Given the description of an element on the screen output the (x, y) to click on. 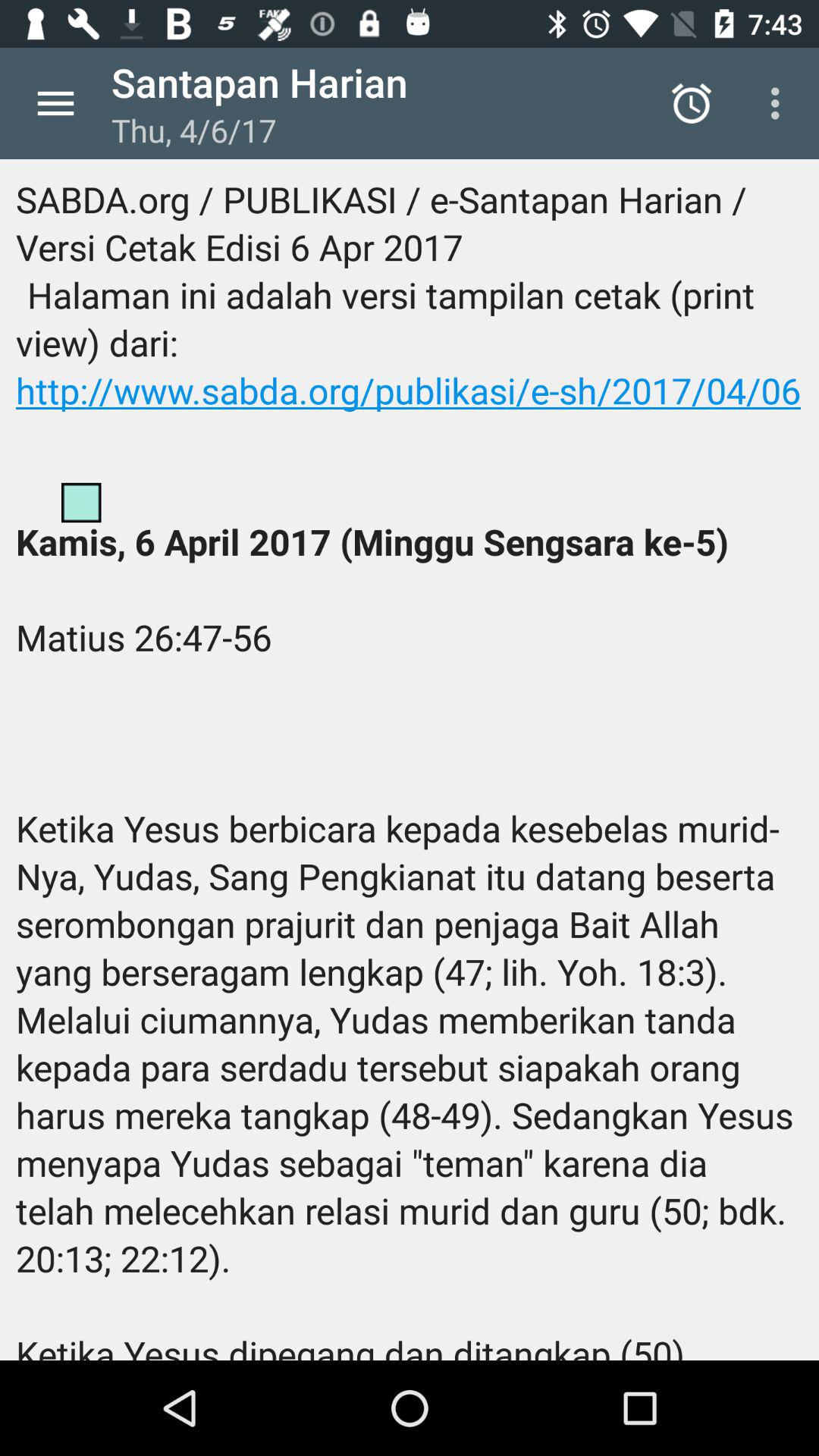
turn off item to the right of santapan harian (691, 103)
